Given the description of an element on the screen output the (x, y) to click on. 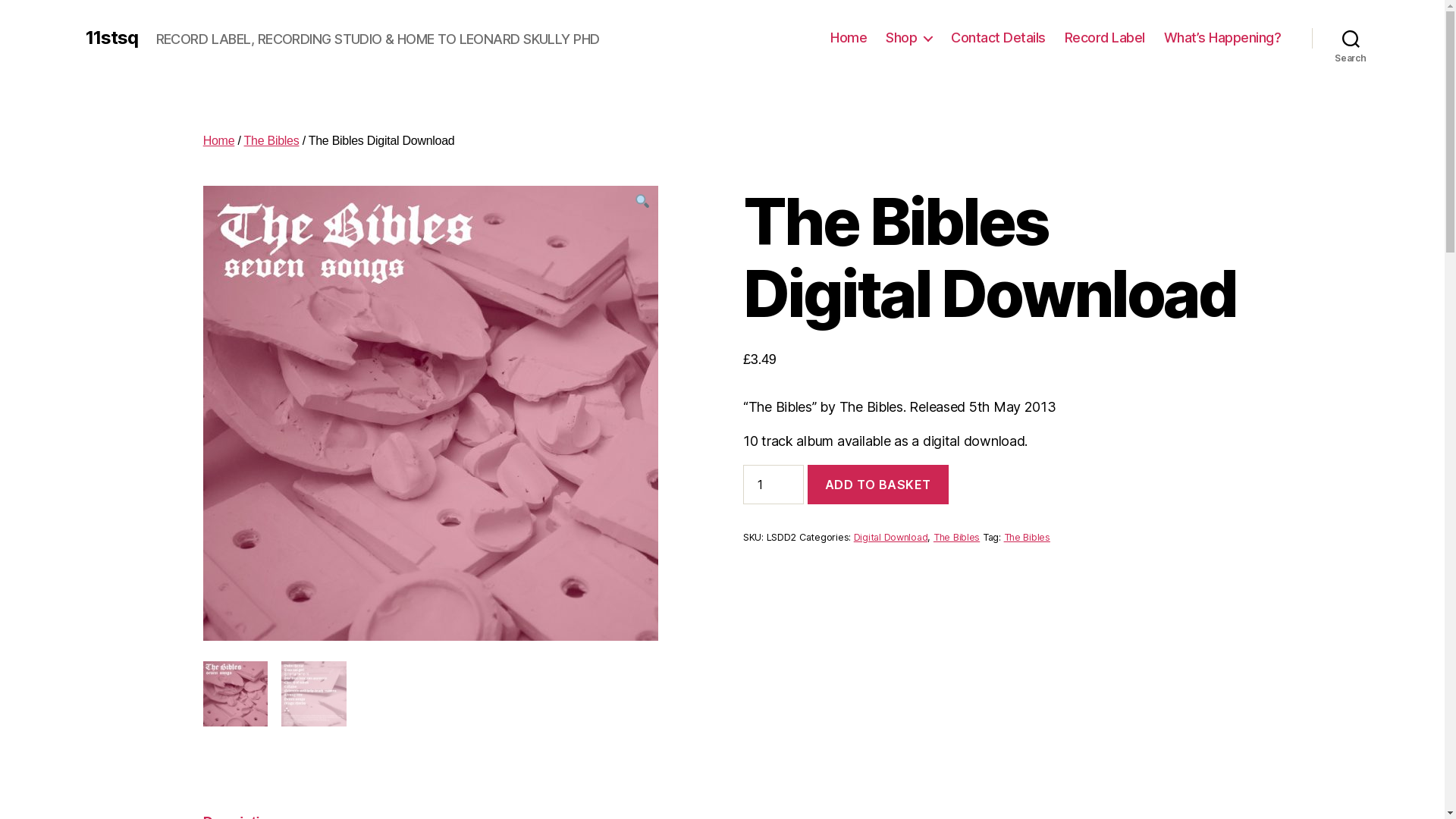
Home Element type: text (848, 37)
11stsq Element type: text (110, 37)
Digital Download Element type: text (890, 536)
Home Element type: text (219, 140)
Shop Element type: text (908, 37)
ADD TO BASKET Element type: text (877, 483)
the-bibles-cover Element type: hover (430, 412)
The Bibles Element type: text (956, 536)
Contact Details Element type: text (997, 37)
Search Element type: text (1350, 37)
The Bibles Element type: text (1027, 536)
Record Label Element type: text (1104, 37)
The Bibles Element type: text (271, 140)
